Given the description of an element on the screen output the (x, y) to click on. 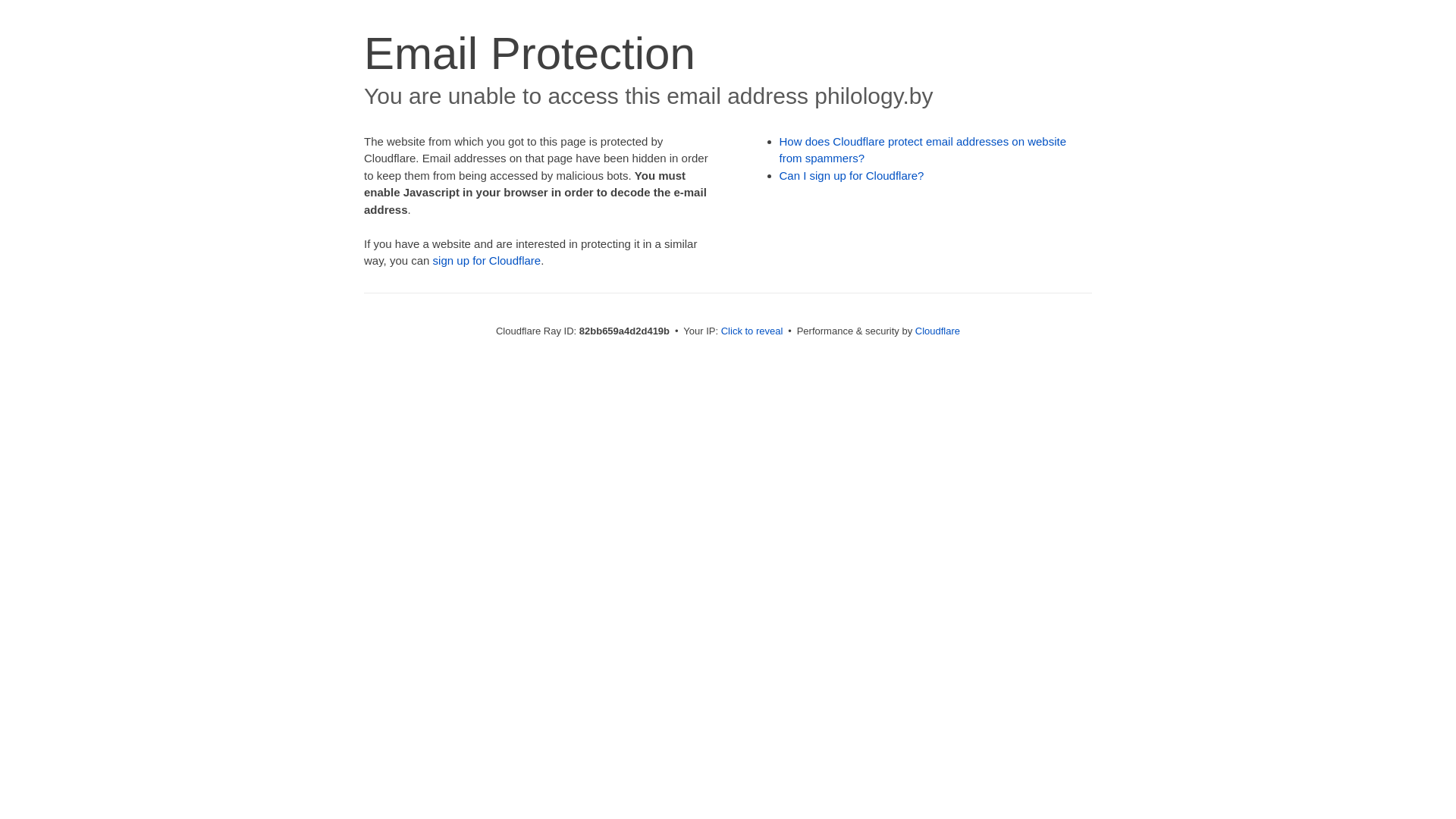
Cloudflare Element type: text (937, 330)
sign up for Cloudflare Element type: text (487, 260)
Click to reveal Element type: text (752, 330)
Can I sign up for Cloudflare? Element type: text (851, 175)
